Given the description of an element on the screen output the (x, y) to click on. 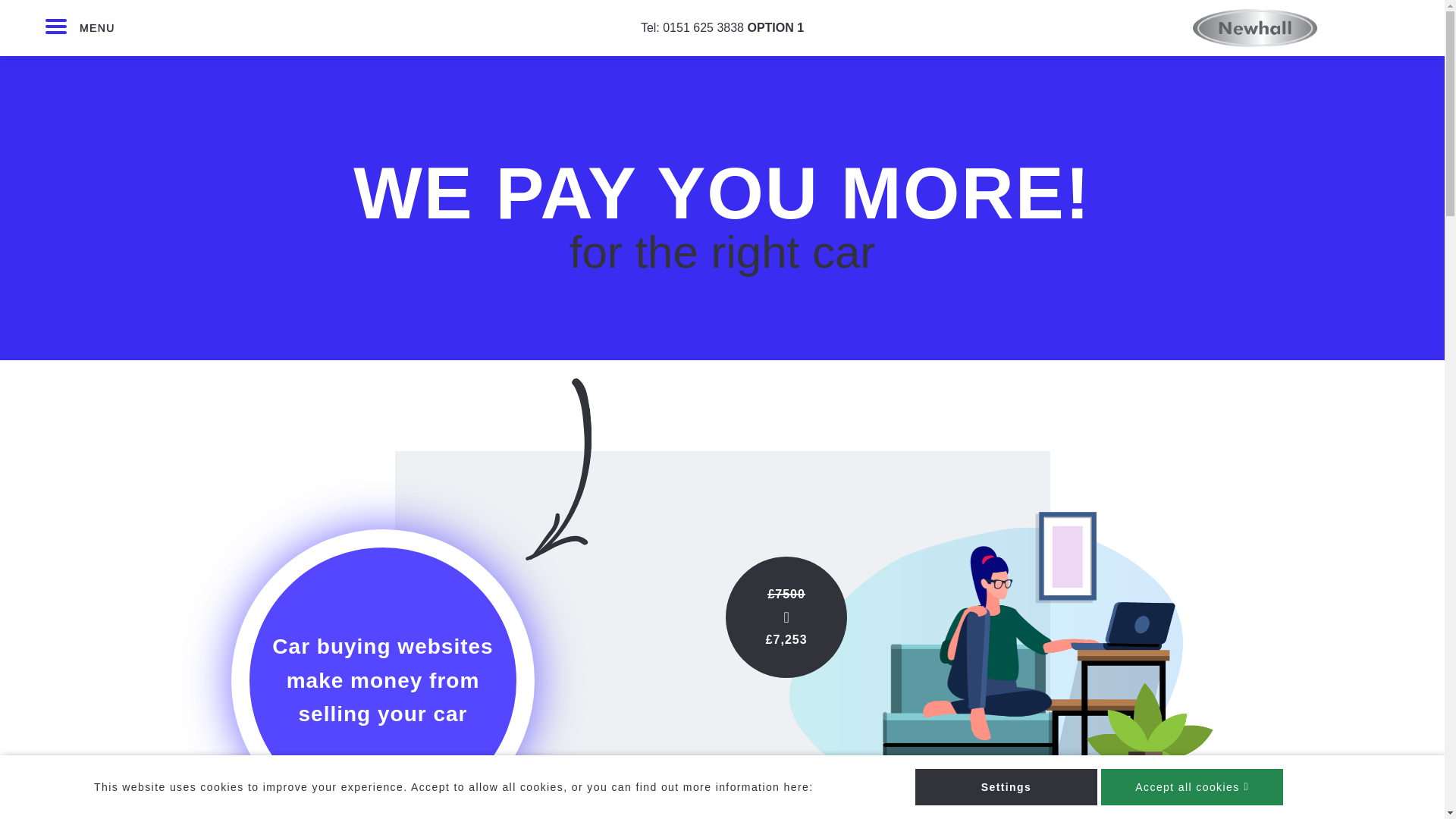
MENU (55, 28)
